Given the description of an element on the screen output the (x, y) to click on. 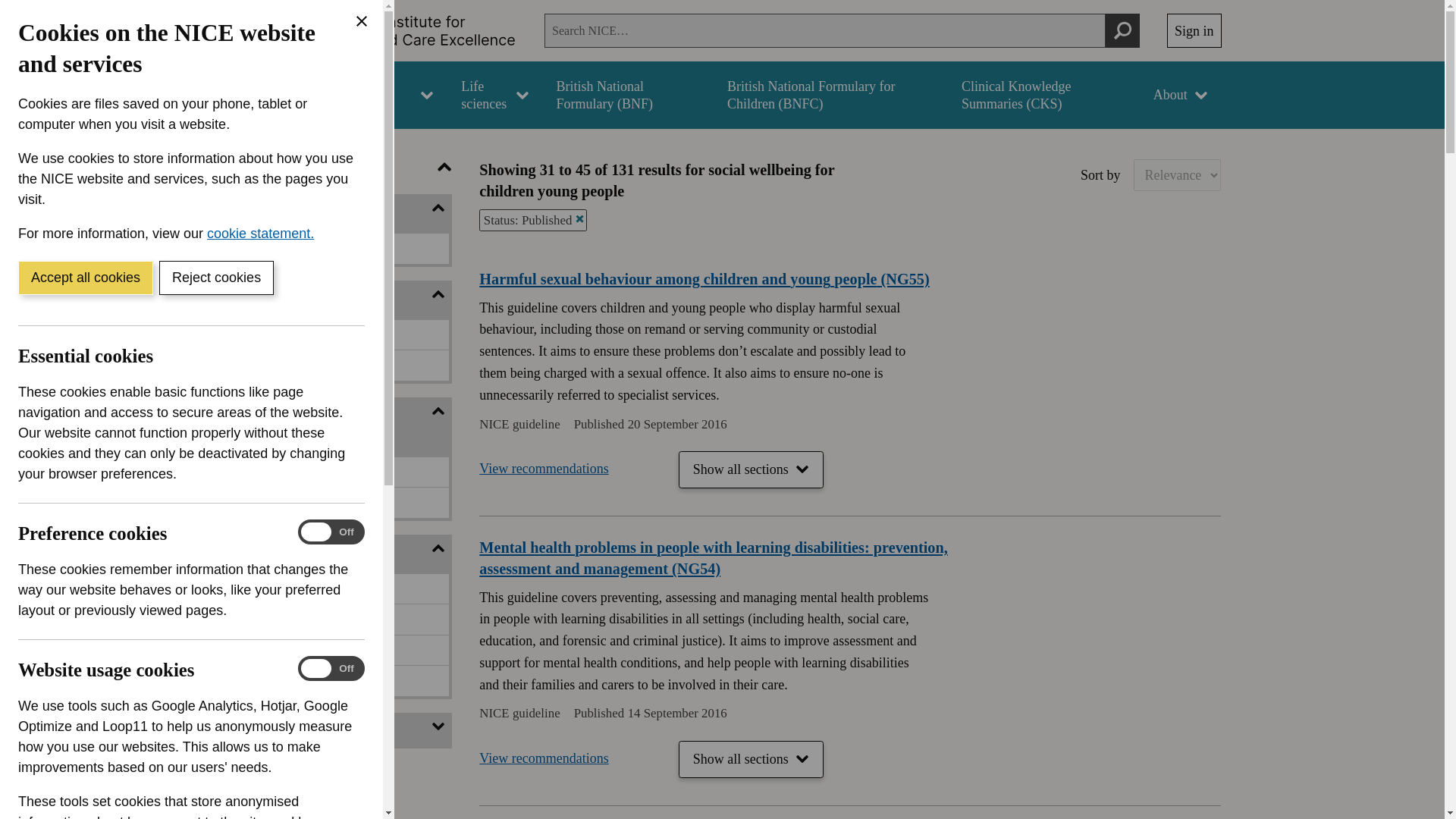
Last 3 months (239, 589)
Accept all cookies (84, 277)
Quality standards (239, 365)
Last 6 months (239, 619)
In development (239, 472)
Last year (239, 650)
COVID-19 (239, 248)
Reject cookies (215, 277)
